Given the description of an element on the screen output the (x, y) to click on. 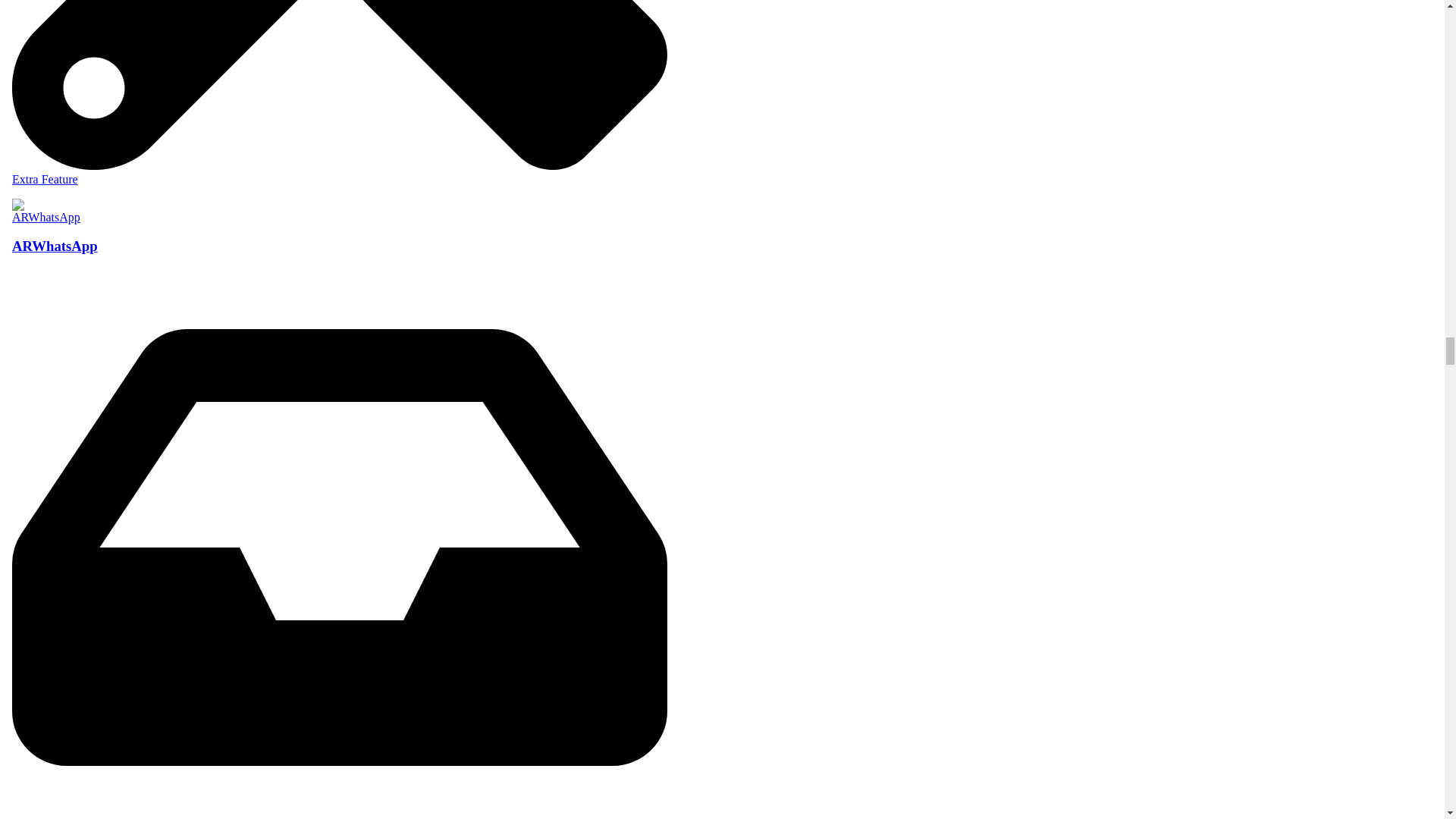
WhatsApp Plus (338, 96)
